Given the description of an element on the screen output the (x, y) to click on. 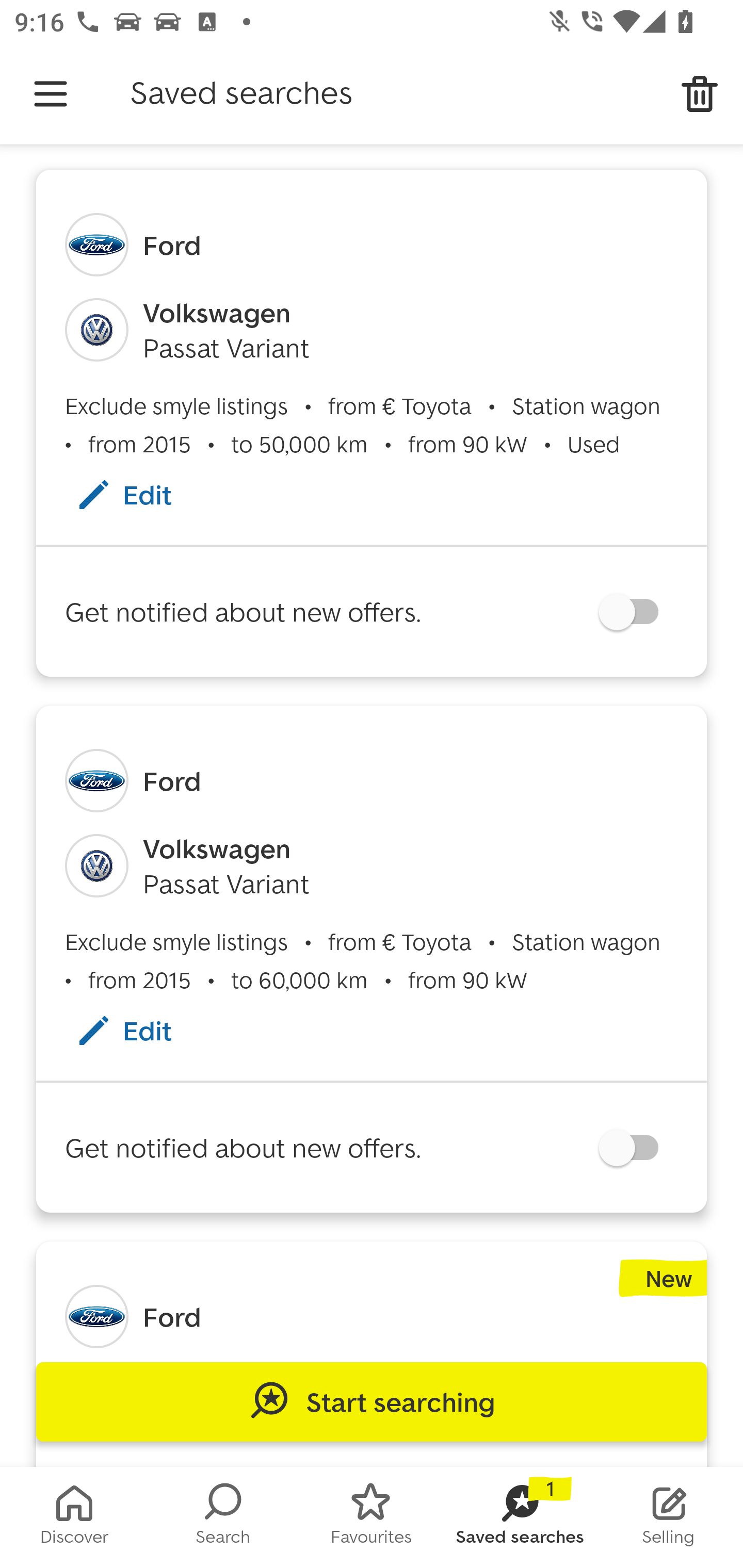
Navigate up (50, 93)
Delete vehicles (699, 93)
Edit (144, 494)
Edit (144, 1030)
Start searching (371, 1401)
HOMESCREEN Discover (74, 1517)
SEARCH Search (222, 1517)
FAVORITES Favourites (371, 1517)
SAVED_SEARCHES Saved searches 1 (519, 1517)
STOCK_LIST Selling (668, 1517)
